Given the description of an element on the screen output the (x, y) to click on. 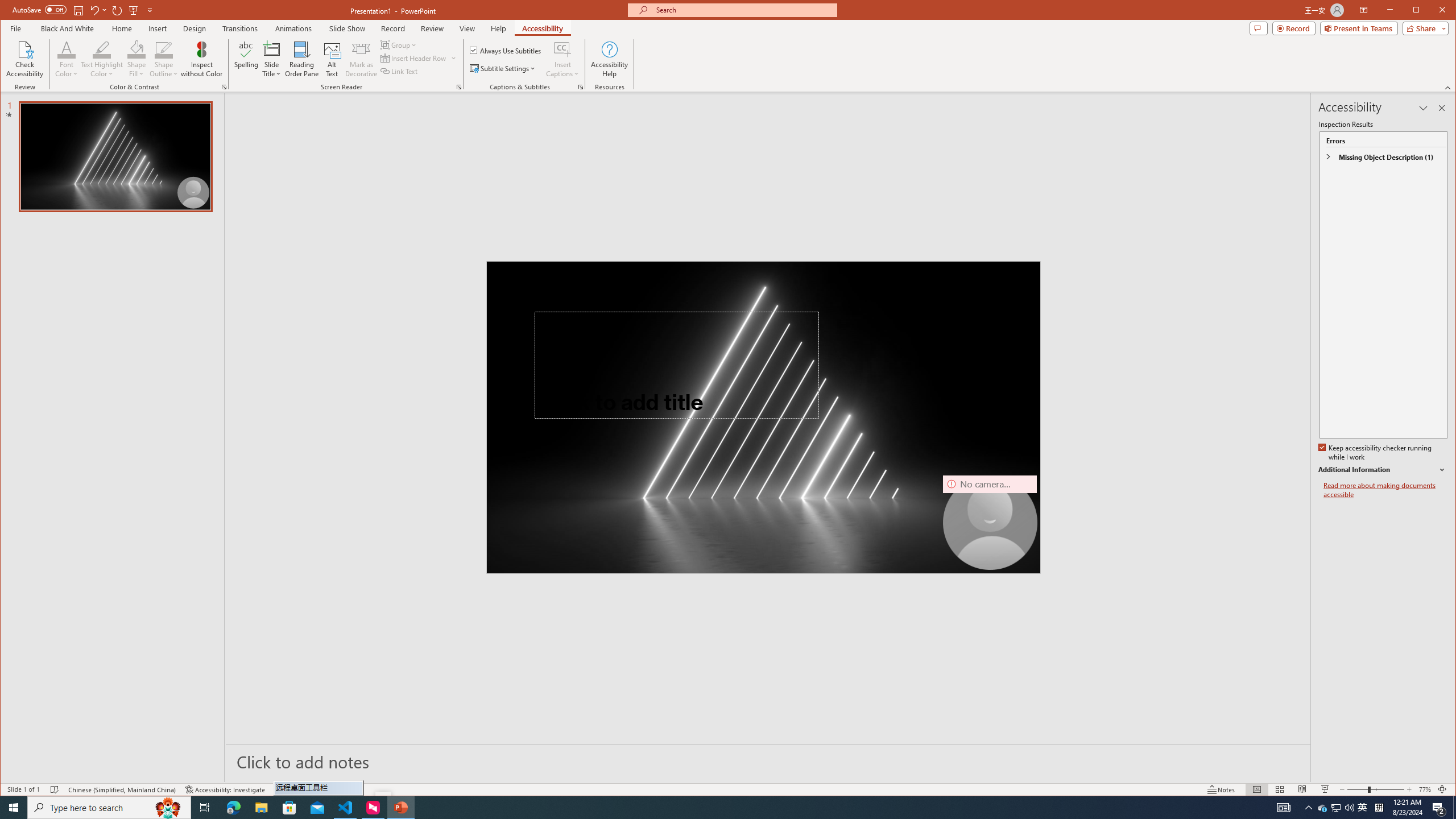
Accessibility Help (608, 59)
Always Use Subtitles (505, 49)
